Given the description of an element on the screen output the (x, y) to click on. 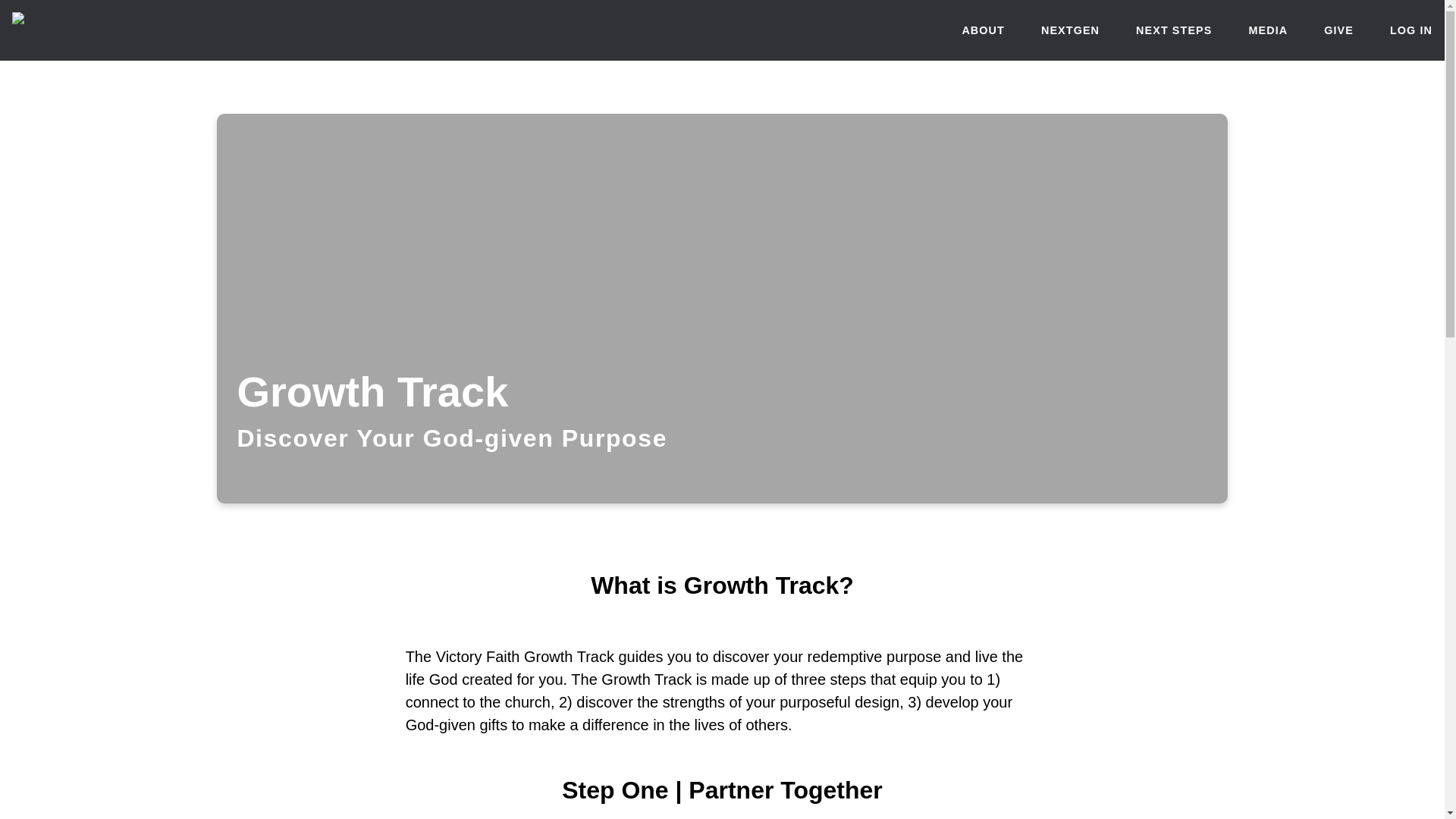
MEDIA (1267, 30)
LOG IN (1411, 30)
NEXTGEN (1070, 30)
GIVE (1338, 30)
ABOUT (982, 30)
NEXT STEPS (1173, 30)
